Given the description of an element on the screen output the (x, y) to click on. 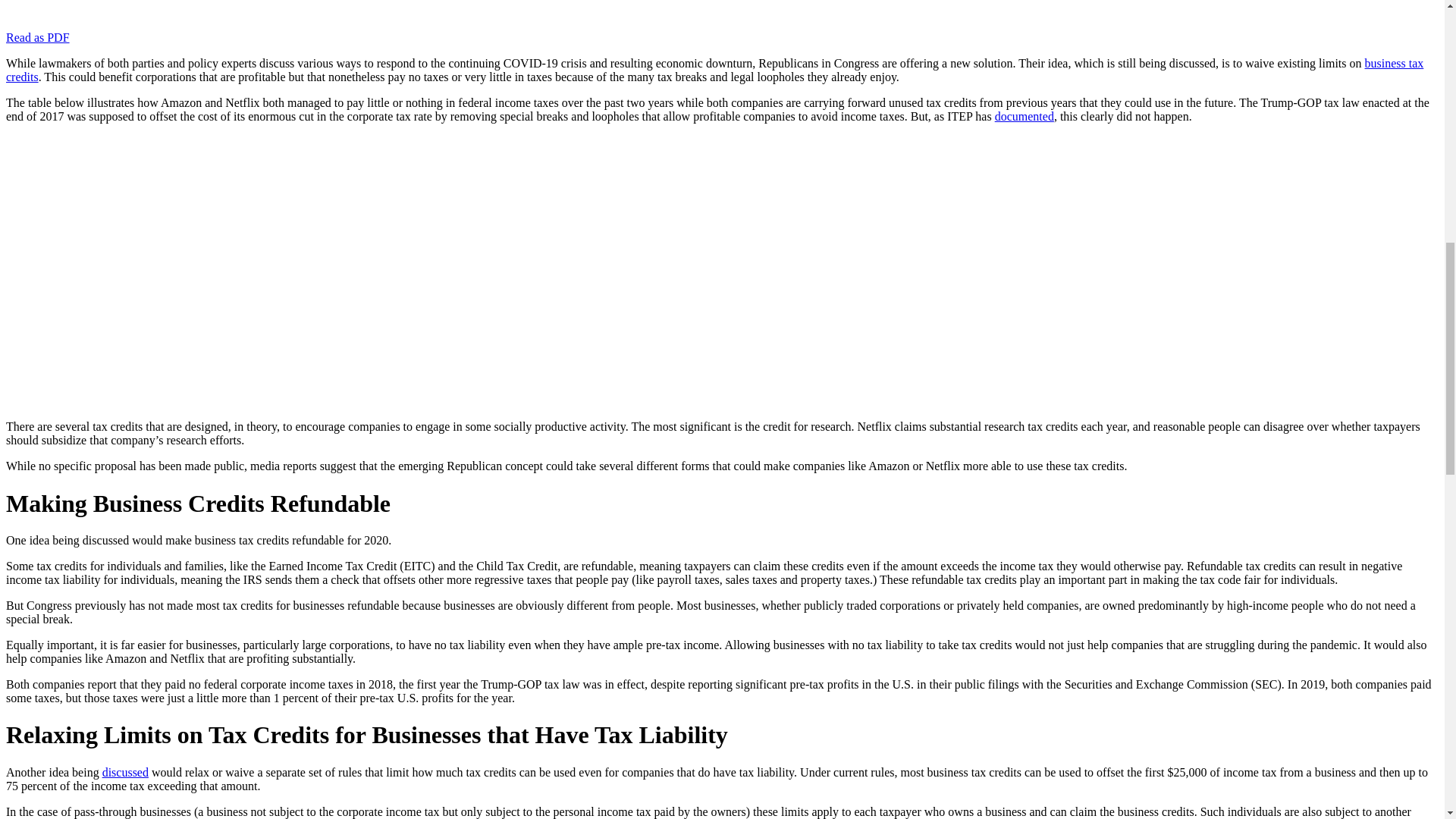
documented (1024, 115)
business tax credits (714, 69)
Read as PDF (37, 37)
